Given the description of an element on the screen output the (x, y) to click on. 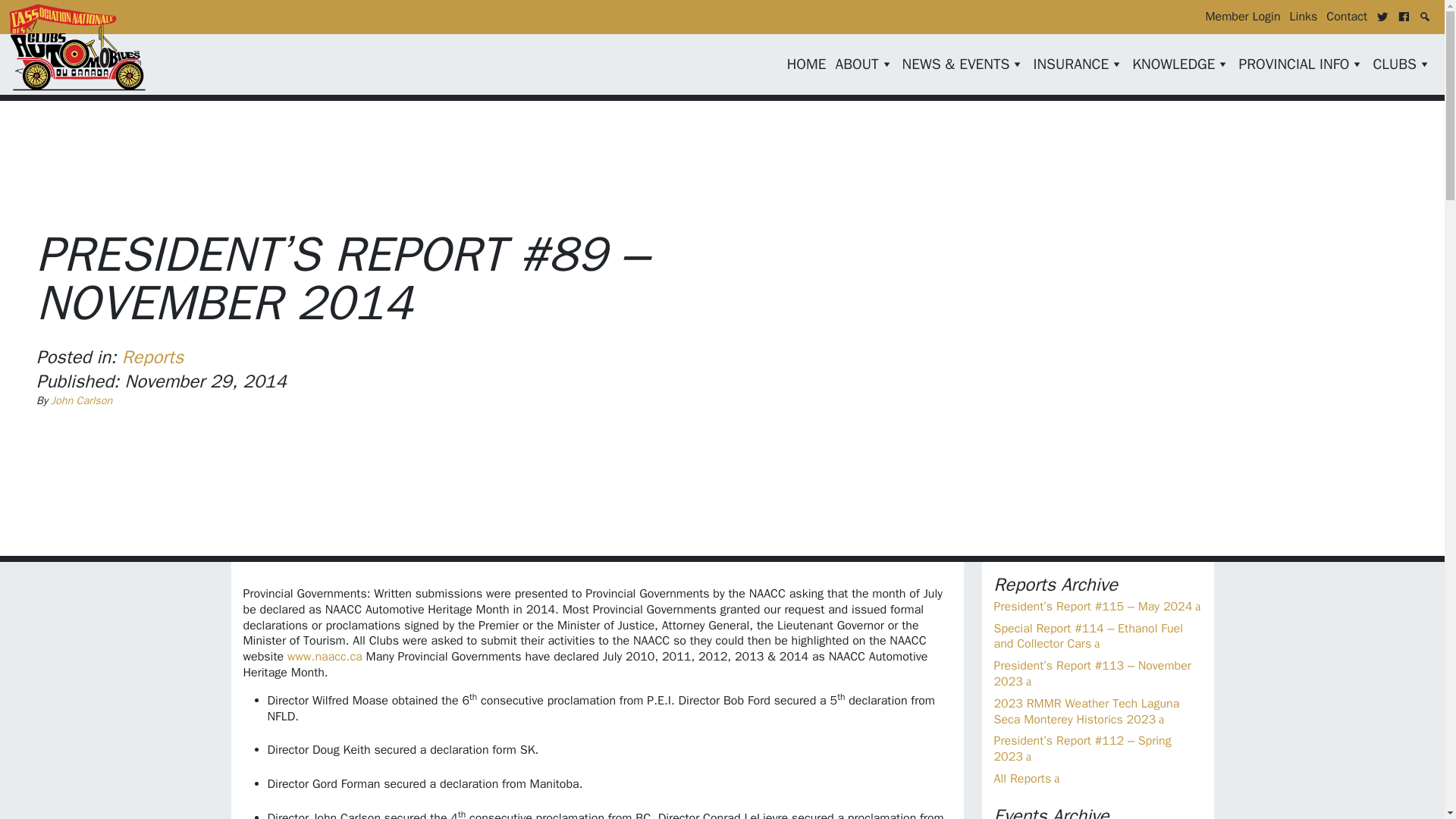
Posts by John Carlson (81, 400)
ABOUT (862, 64)
Member Login (1241, 17)
Contact (1346, 17)
Links (1303, 17)
